Given the description of an element on the screen output the (x, y) to click on. 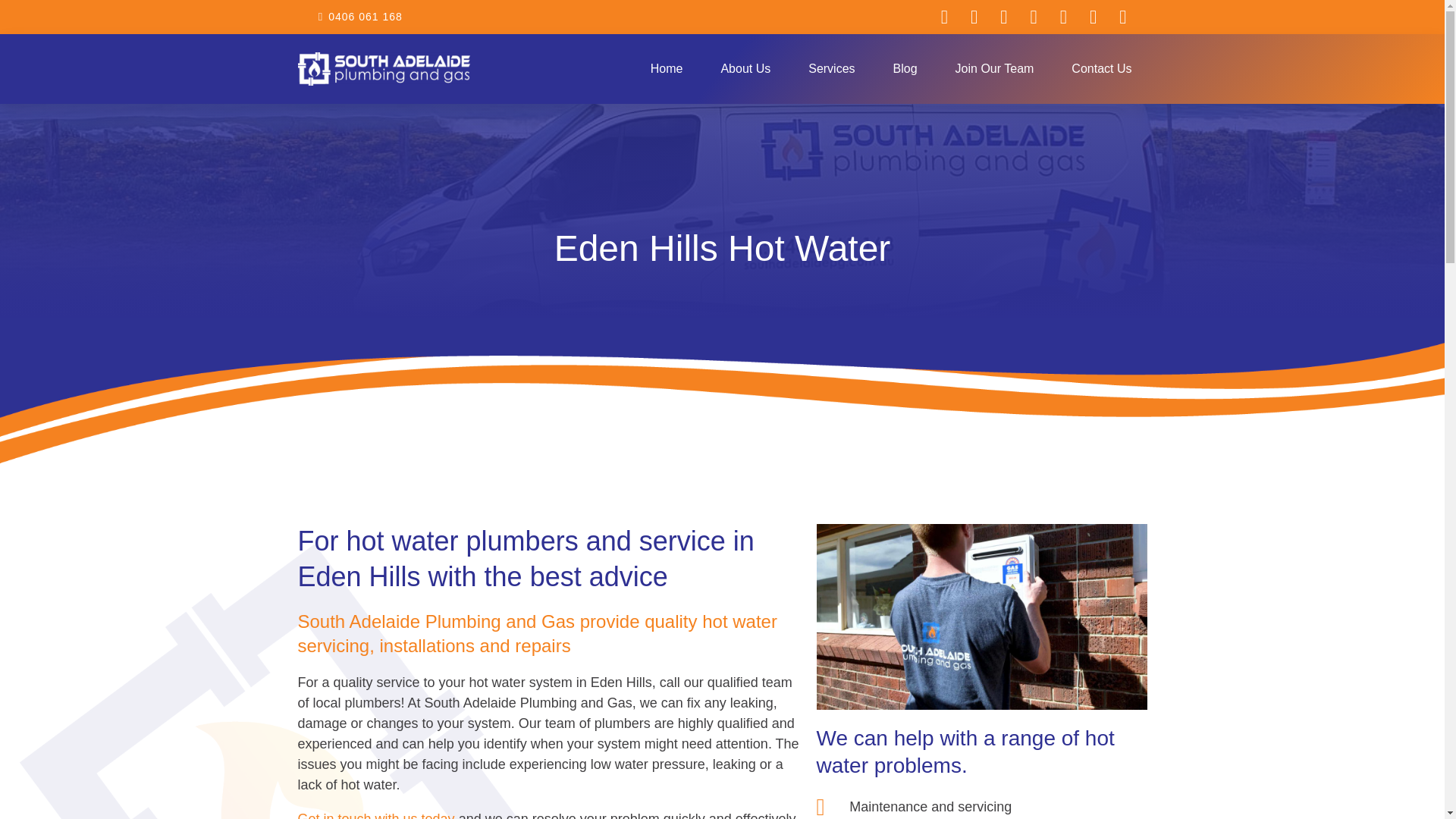
Join Our Team (994, 68)
About Us (745, 68)
0406 061 168 (355, 17)
Contact Us (1101, 68)
